Given the description of an element on the screen output the (x, y) to click on. 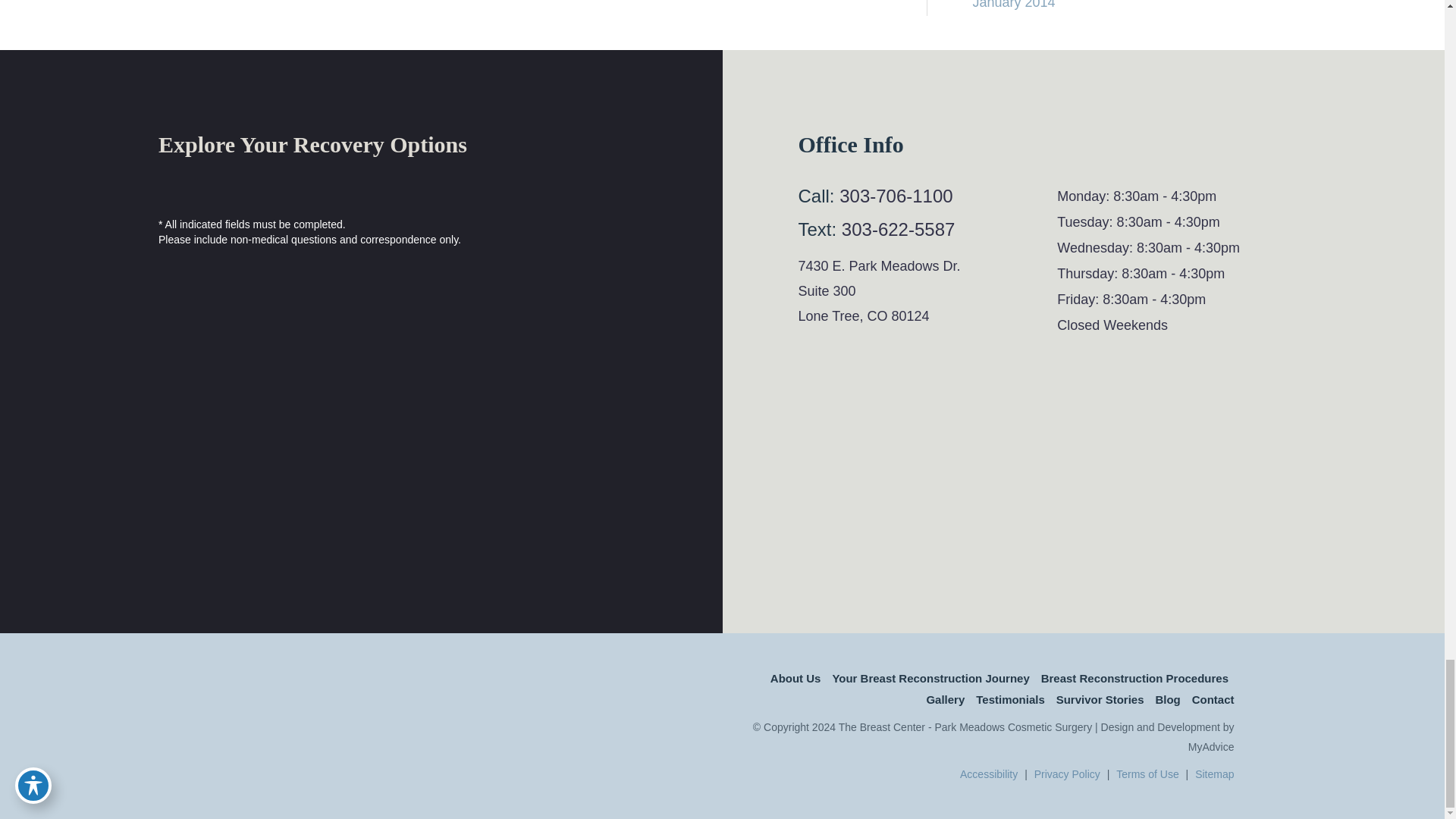
Map Location (1041, 469)
